Given the description of an element on the screen output the (x, y) to click on. 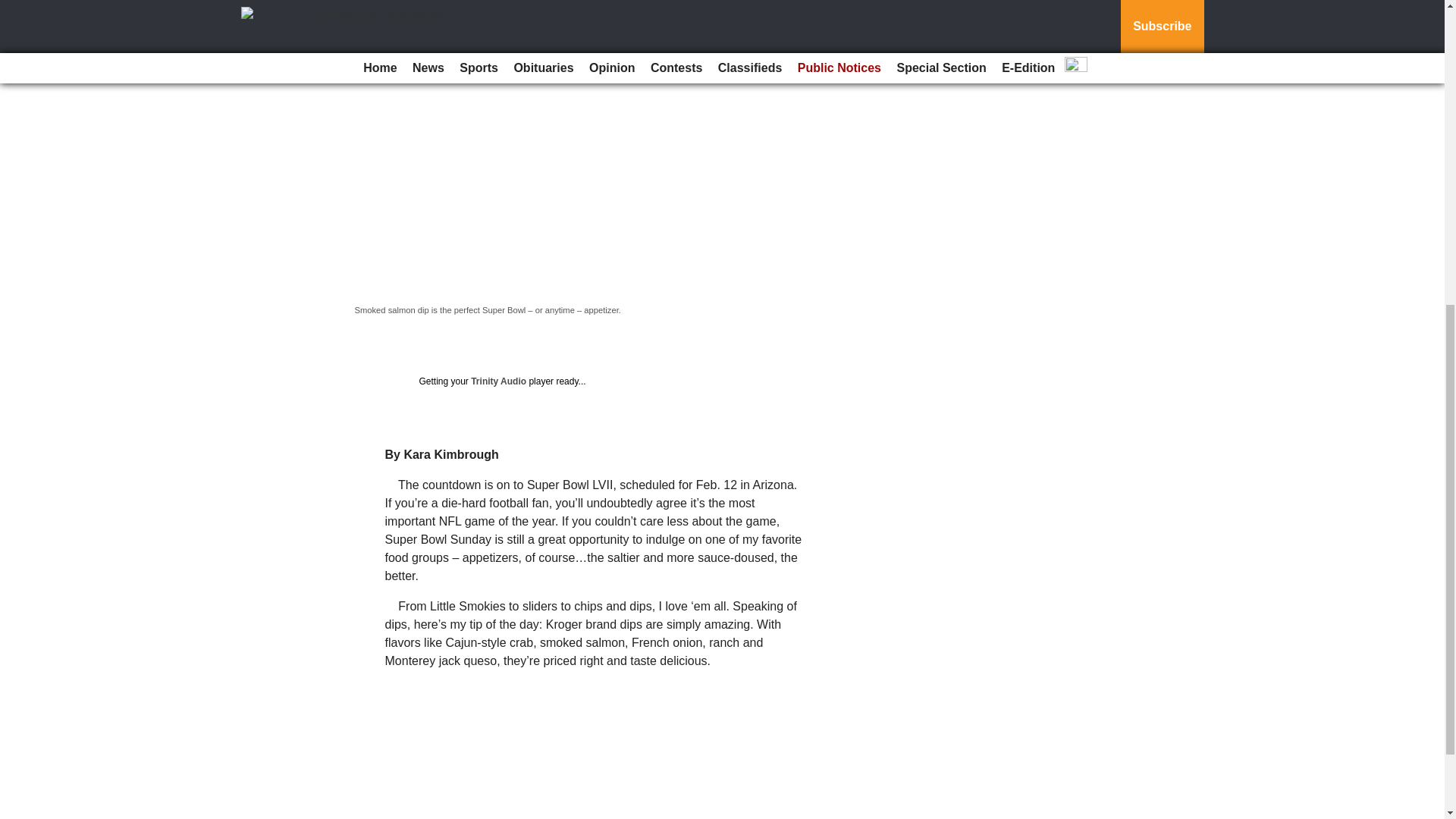
Trinity Audio (497, 380)
